Given the description of an element on the screen output the (x, y) to click on. 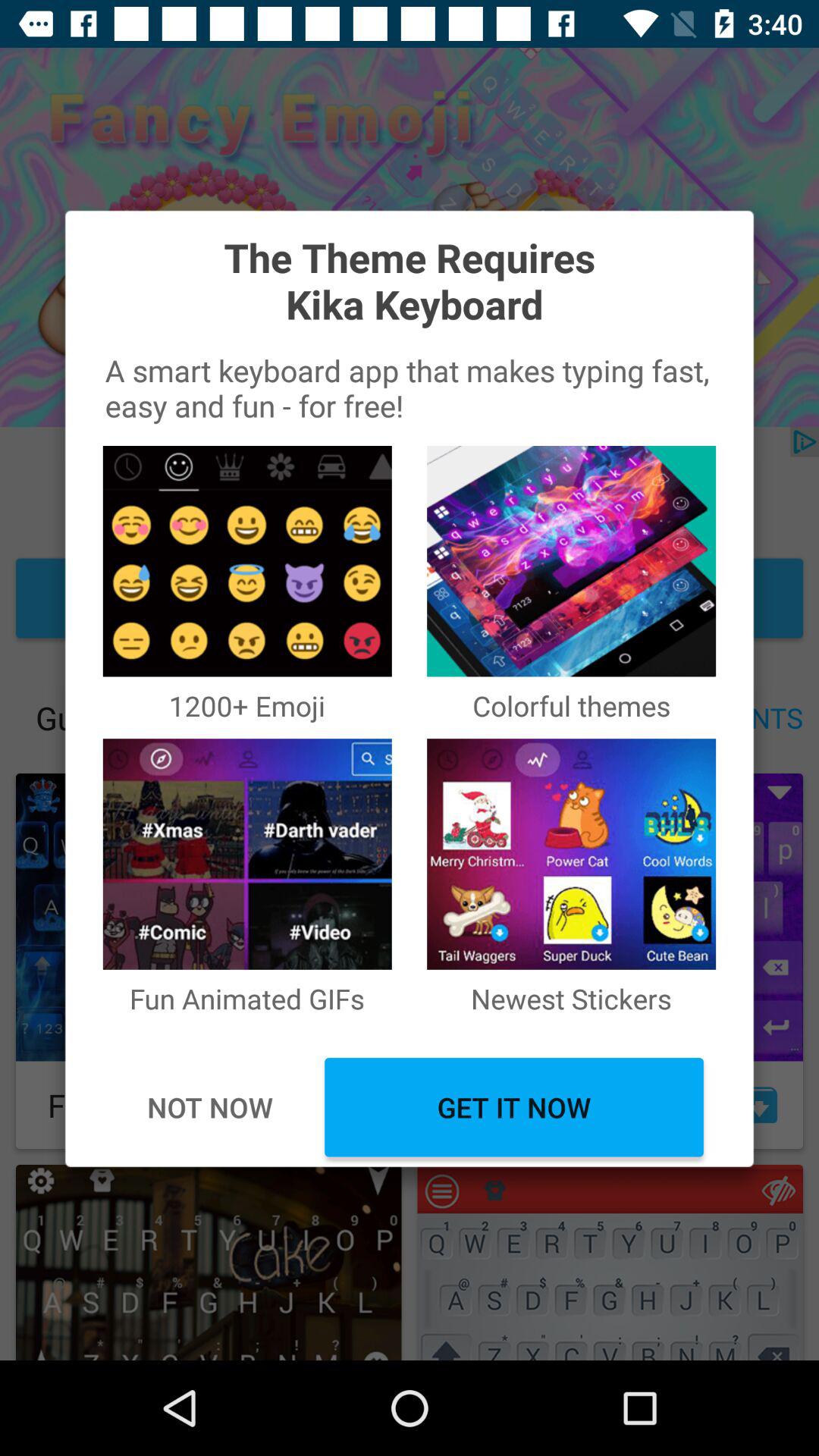
open the icon to the left of the get it now item (209, 1106)
